Given the description of an element on the screen output the (x, y) to click on. 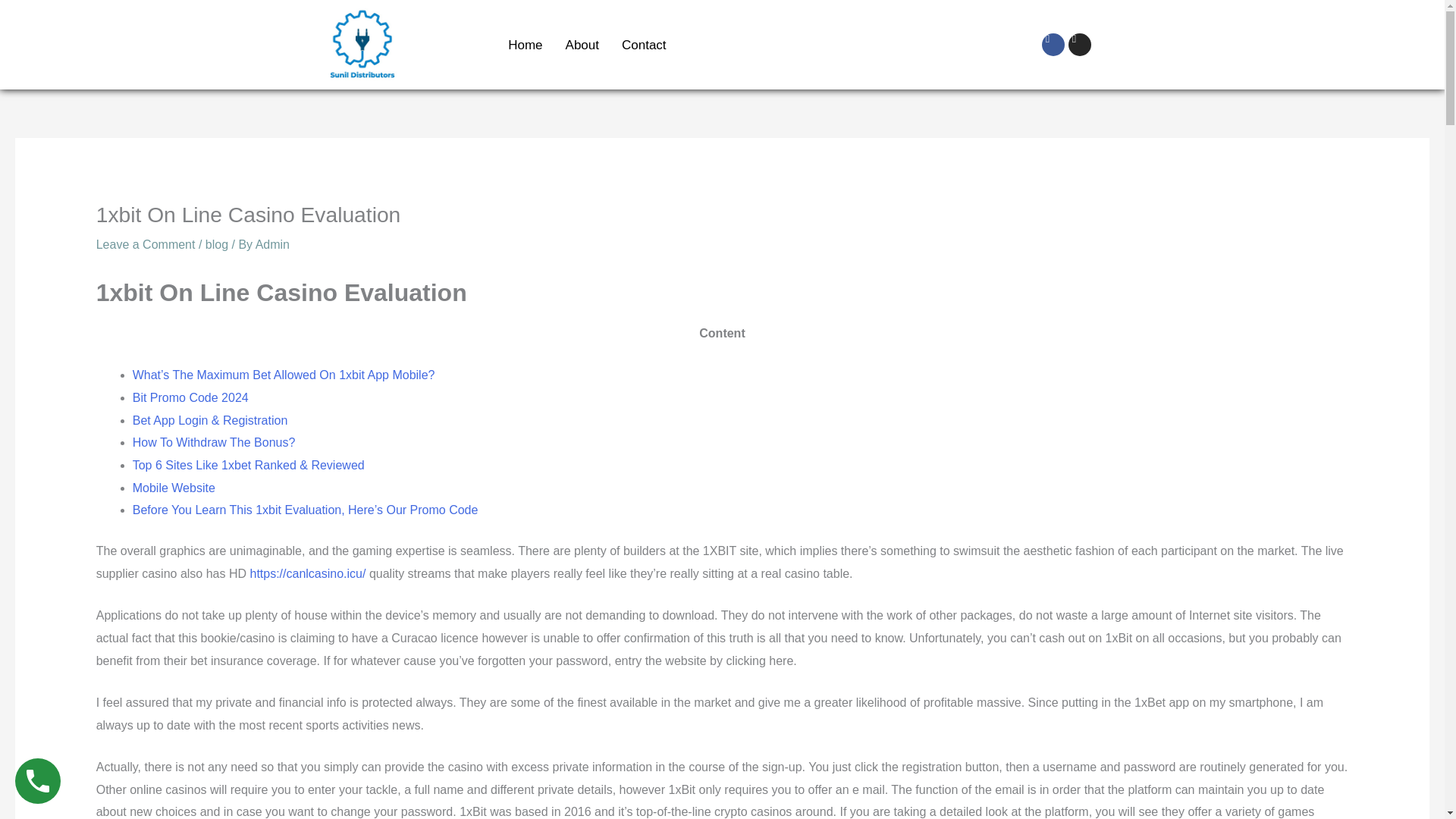
Contact (644, 45)
Admin (272, 244)
blog (216, 244)
Leave a Comment (145, 244)
How To Withdraw The Bonus? (213, 441)
Home (524, 45)
About (582, 45)
Mobile Website (173, 487)
Bit Promo Code 2024 (190, 397)
View all posts by Admin (272, 244)
